Given the description of an element on the screen output the (x, y) to click on. 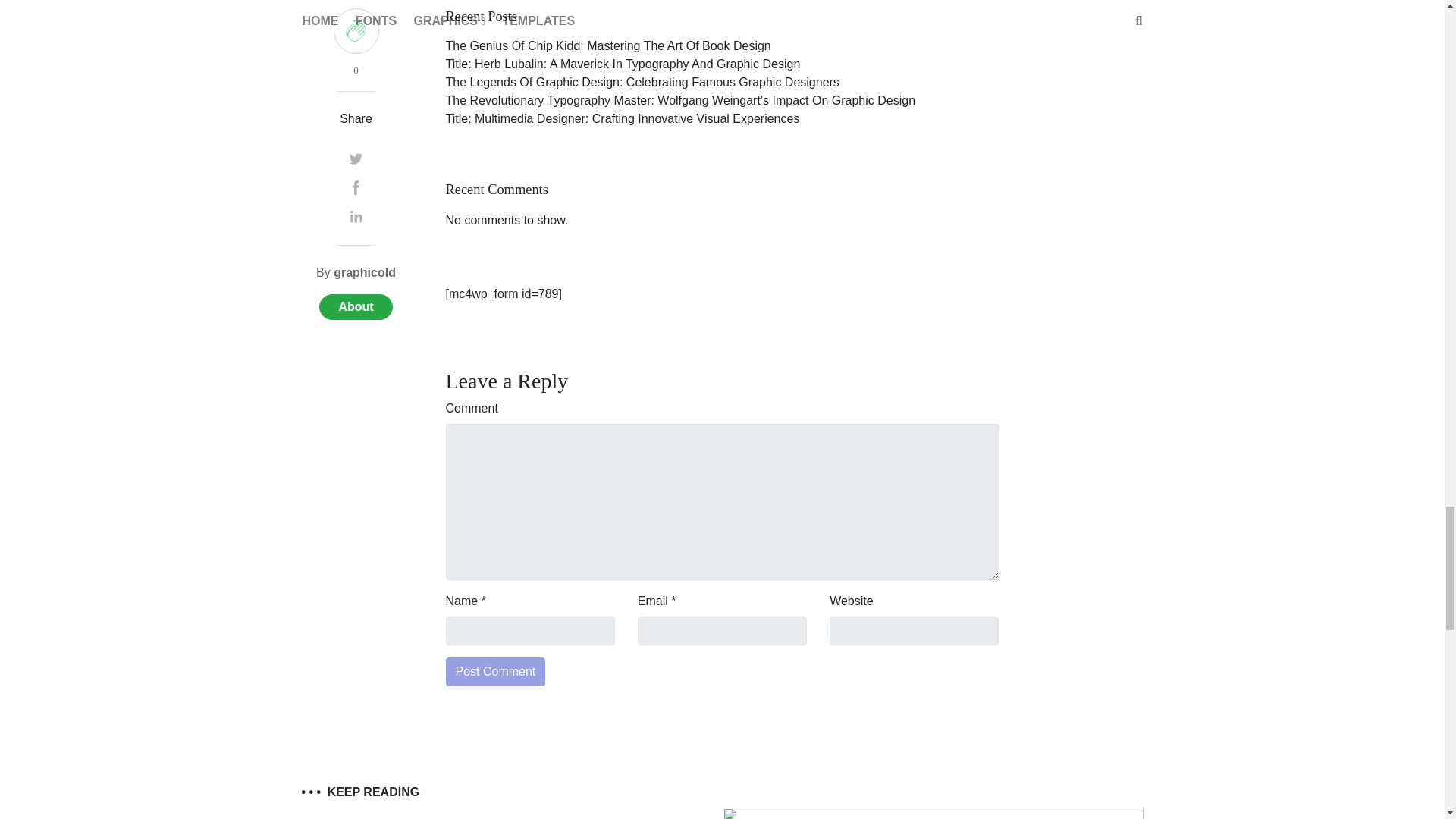
Post Comment (495, 671)
Post Comment (495, 671)
The Genius Of Chip Kidd: Mastering The Art Of Book Design (608, 45)
